Given the description of an element on the screen output the (x, y) to click on. 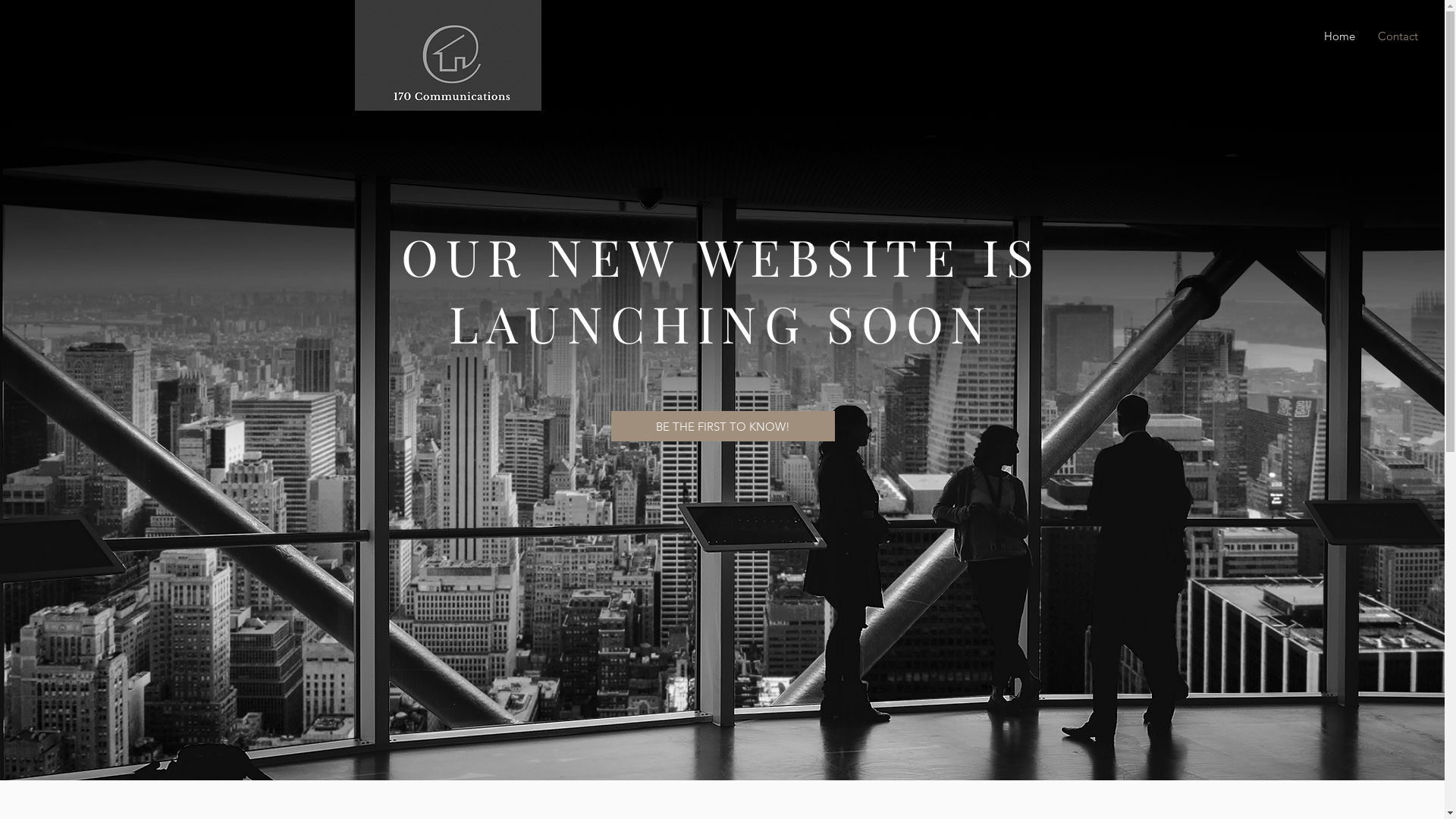
Contact Element type: text (1397, 36)
Home Element type: text (1334, 36)
BE THE FIRST TO KNOW! Element type: text (722, 426)
